Given the description of an element on the screen output the (x, y) to click on. 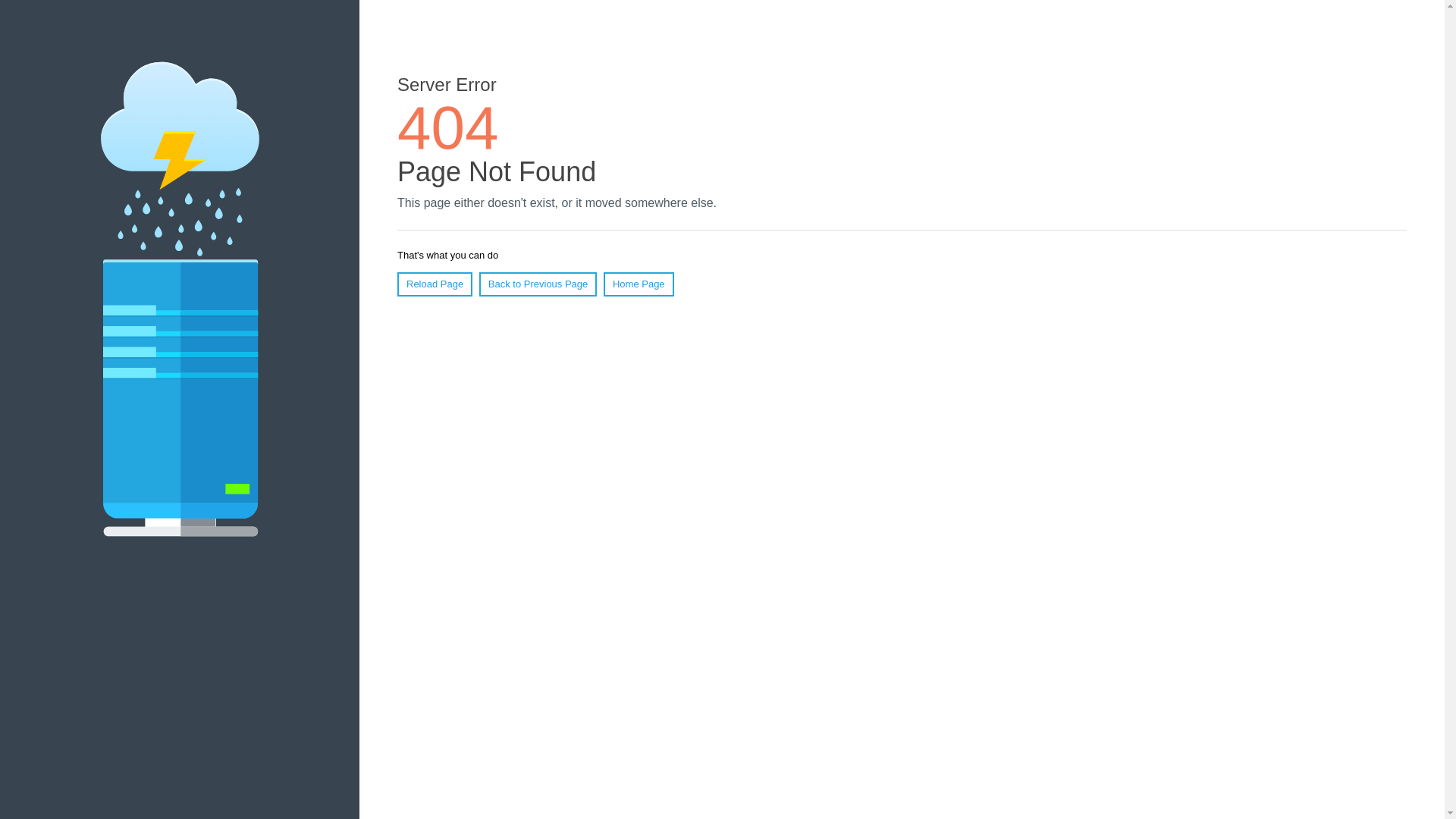
Back to Previous Page Element type: text (538, 284)
Home Page Element type: text (638, 284)
Reload Page Element type: text (434, 284)
